Given the description of an element on the screen output the (x, y) to click on. 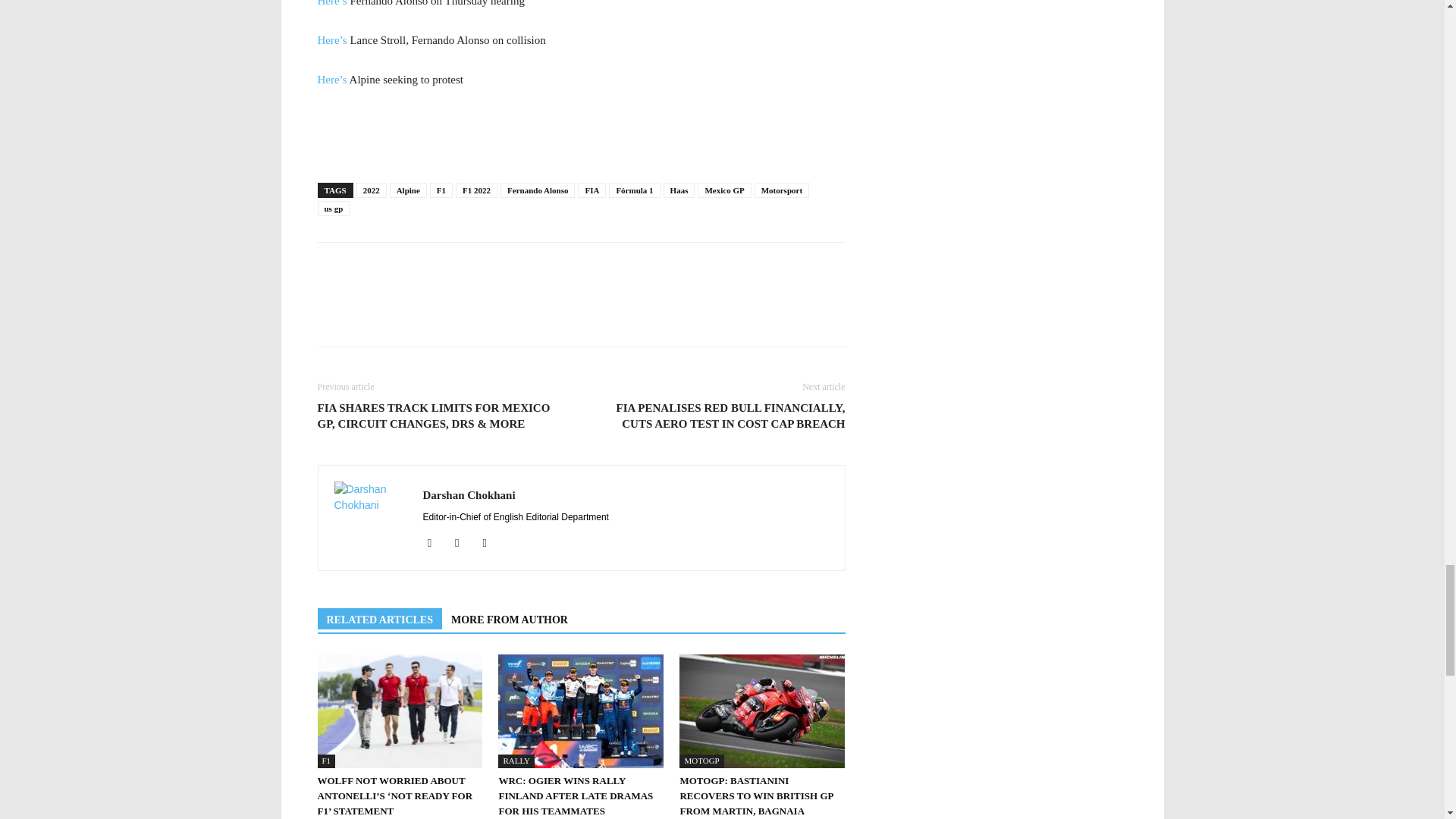
Facebook (435, 542)
